Given the description of an element on the screen output the (x, y) to click on. 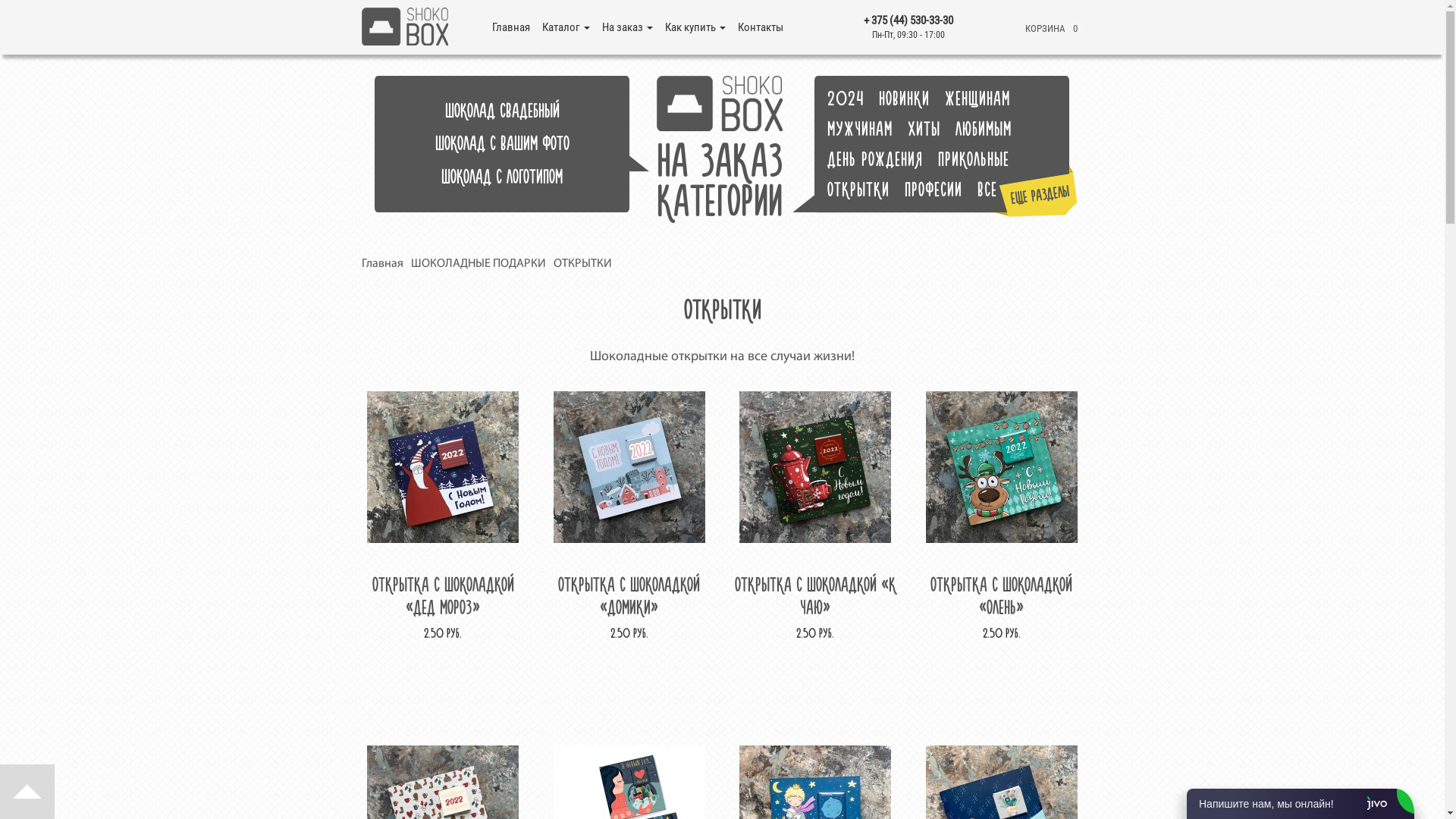
2024 Element type: text (852, 98)
